Given the description of an element on the screen output the (x, y) to click on. 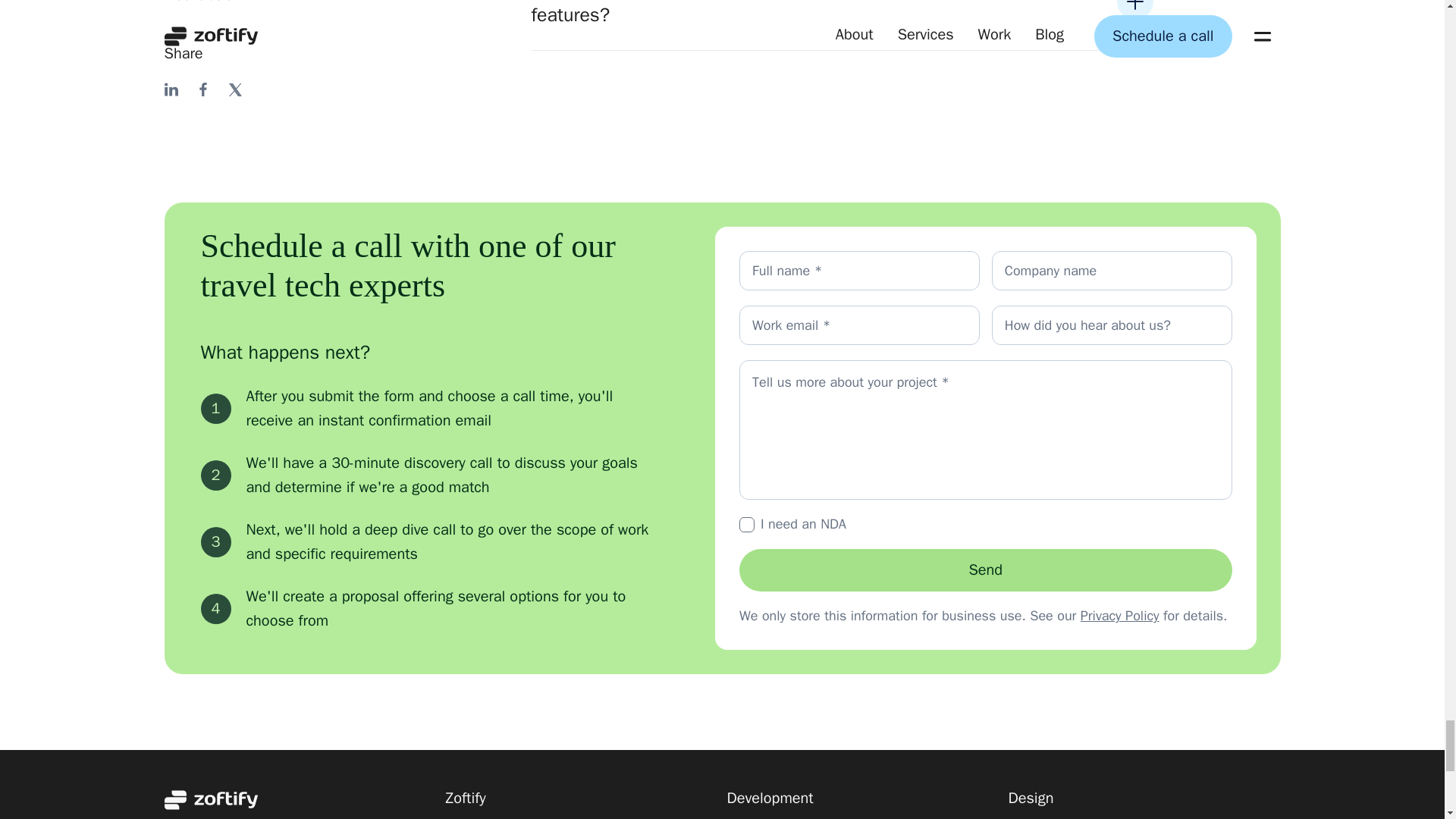
on (746, 524)
Privacy Policy (1119, 615)
Send (985, 569)
